Given the description of an element on the screen output the (x, y) to click on. 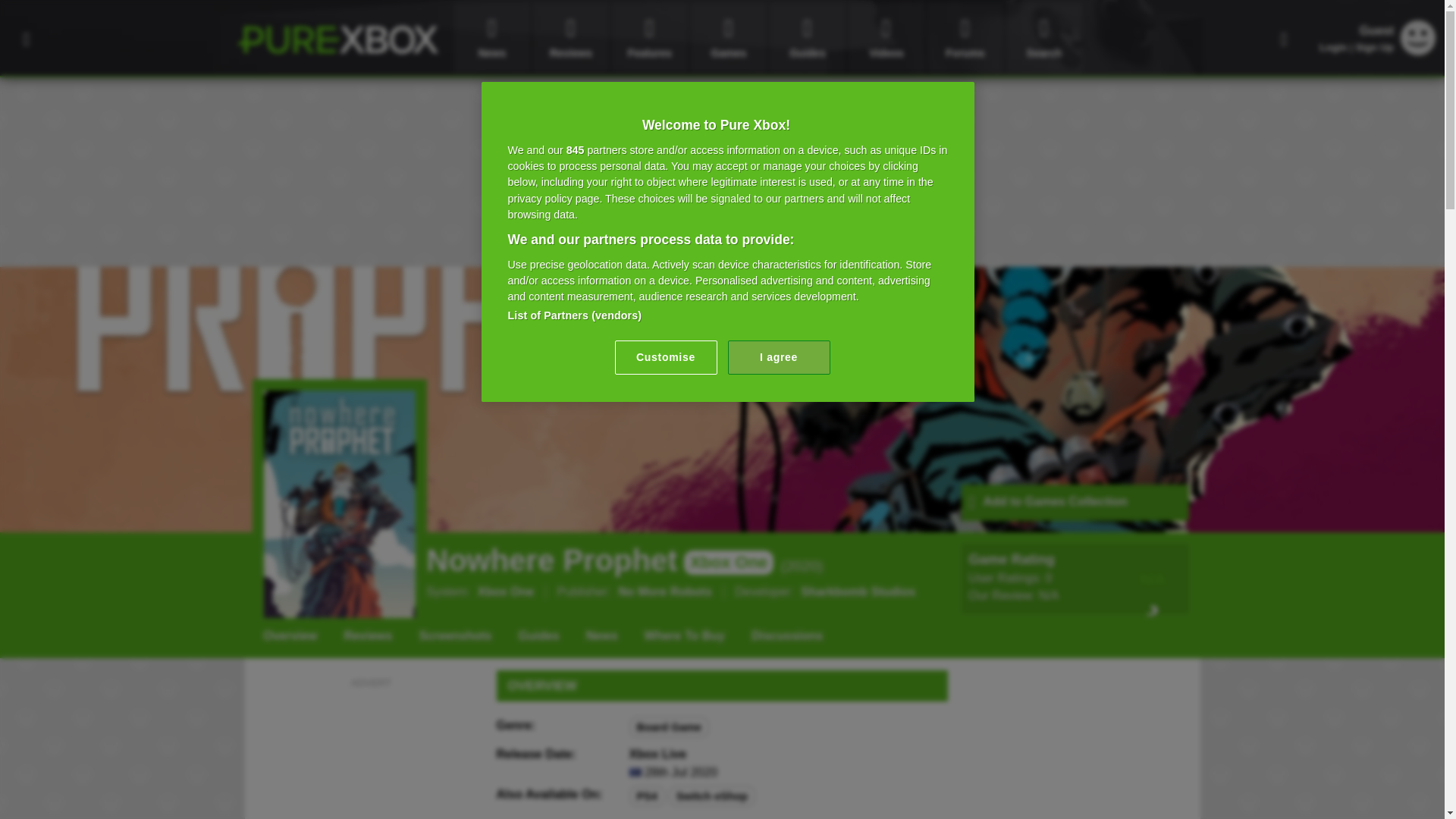
Sign Up (1374, 47)
Share This Page (1283, 37)
Reviews (570, 37)
Search (1043, 37)
Forums (965, 37)
Guest (1417, 51)
Videos (886, 37)
Pure Xbox (336, 39)
Login (1332, 47)
News (491, 37)
Guides (807, 37)
Pure Xbox (336, 39)
Features (649, 37)
Guest (1417, 37)
Games (728, 37)
